Given the description of an element on the screen output the (x, y) to click on. 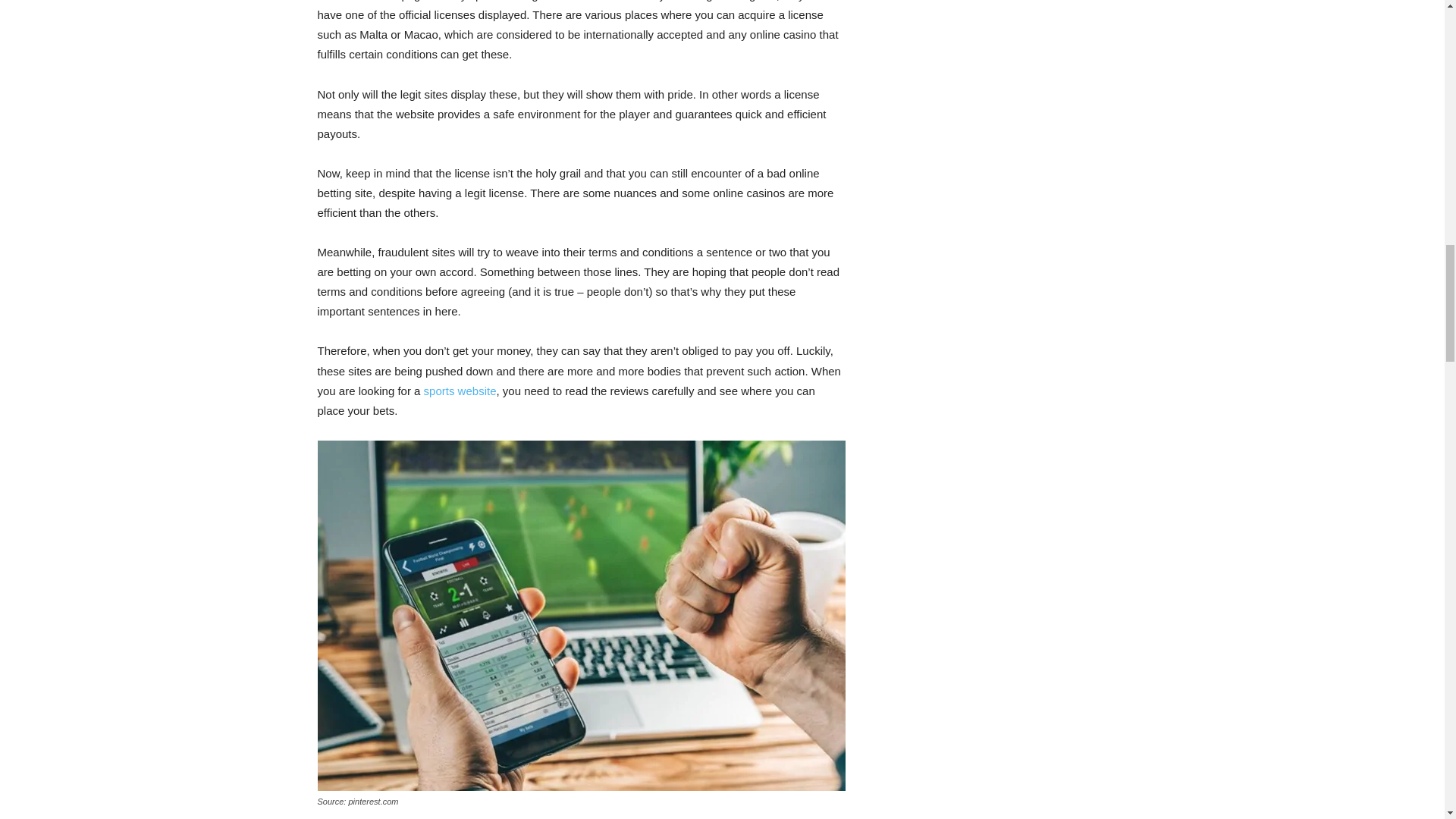
sports website (459, 390)
